Given the description of an element on the screen output the (x, y) to click on. 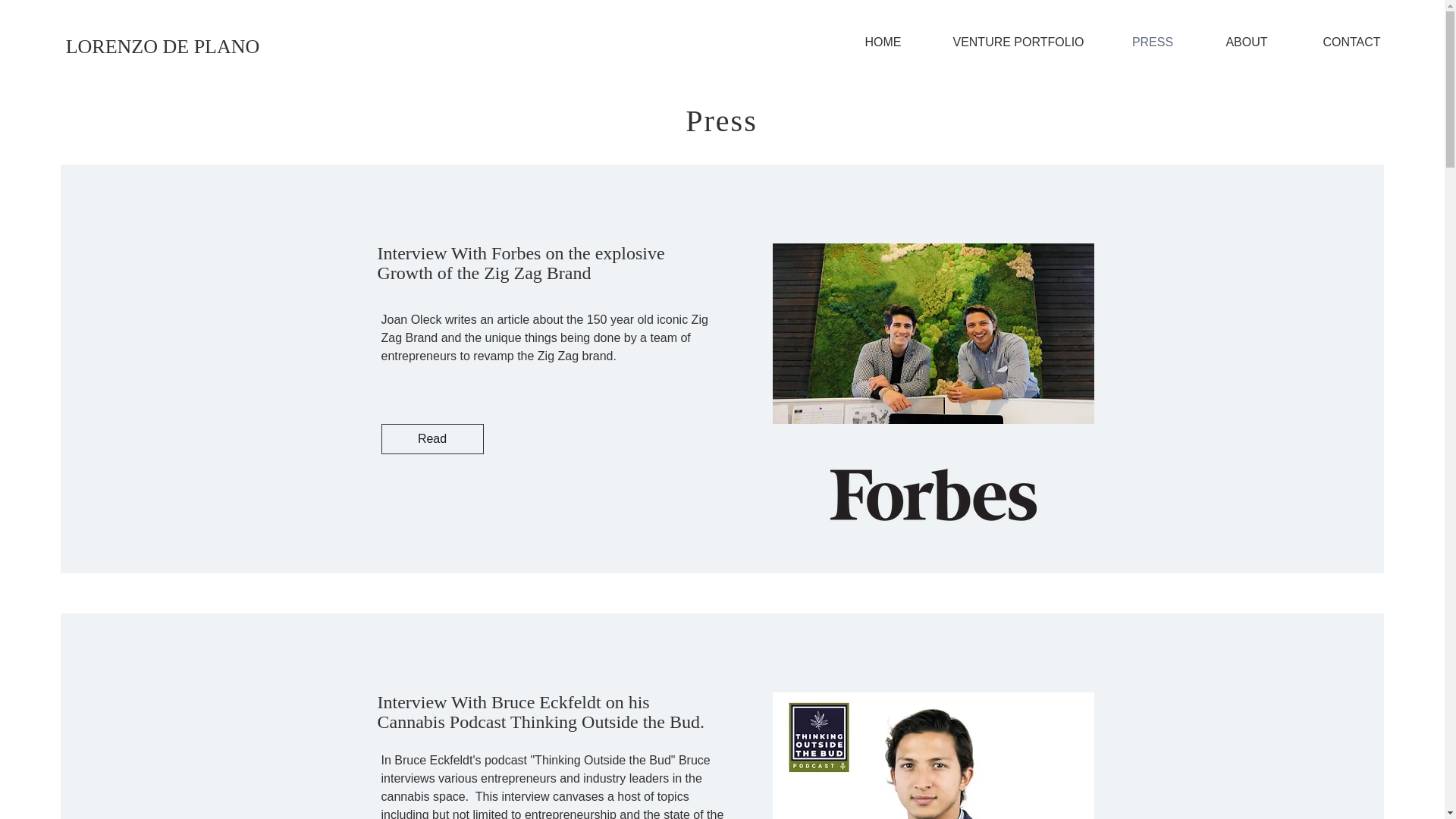
CONTACT (1351, 42)
VENTURE PORTFOLIO (1018, 42)
PRESS (1152, 42)
LORENZO DE PLANO (162, 46)
ABOUT (1246, 42)
HOME (882, 42)
Read (431, 439)
